Given the description of an element on the screen output the (x, y) to click on. 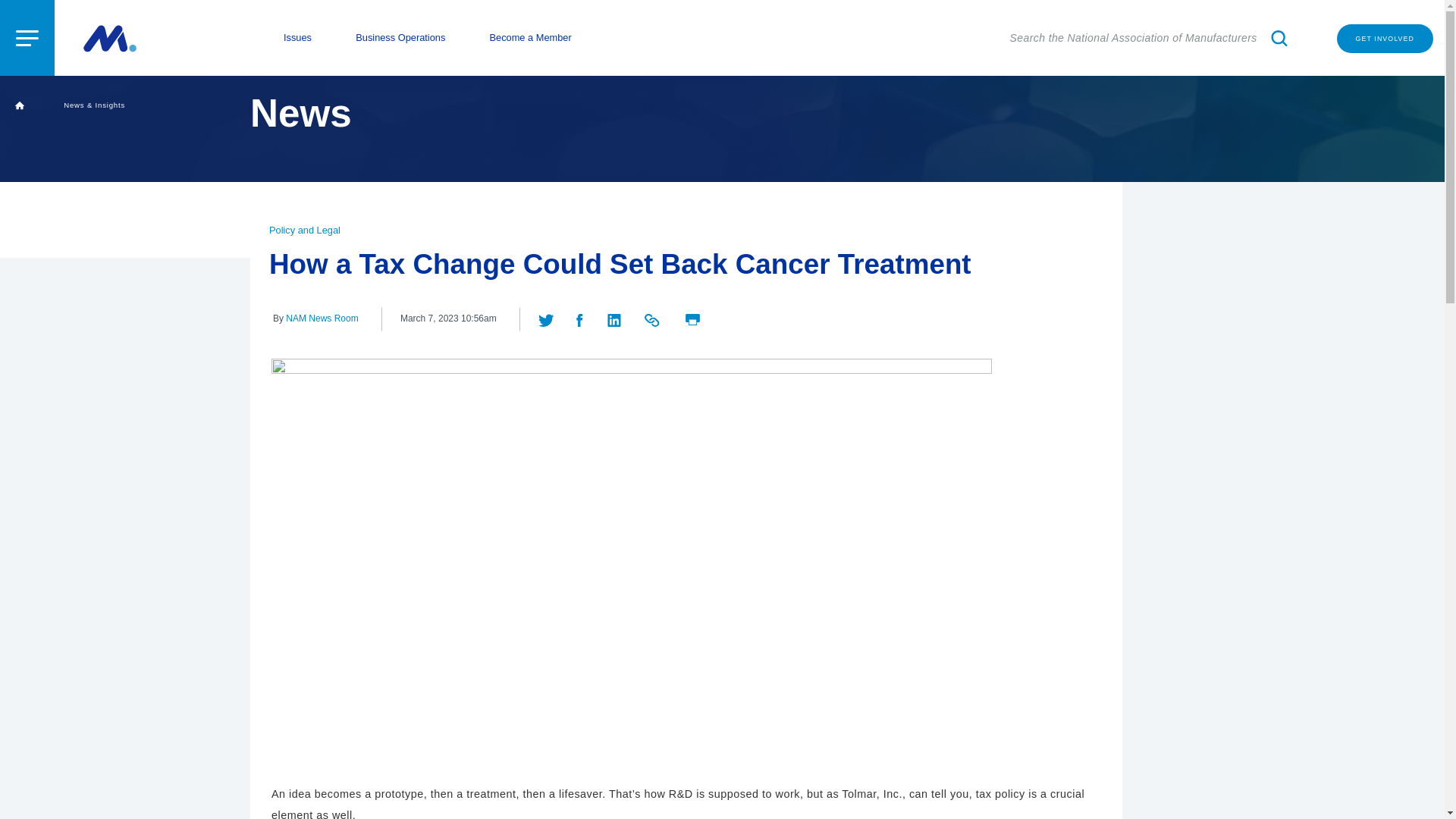
Business Operations (400, 37)
Share on Twitter (547, 317)
Share on LinkedIn (615, 317)
Search the National Association of Manufacturers (1150, 37)
NAM News Room (321, 317)
Policy and Legal (304, 229)
Print Page (692, 317)
Share on Facebook (580, 317)
Issues (297, 37)
Share Link (653, 317)
